Given the description of an element on the screen output the (x, y) to click on. 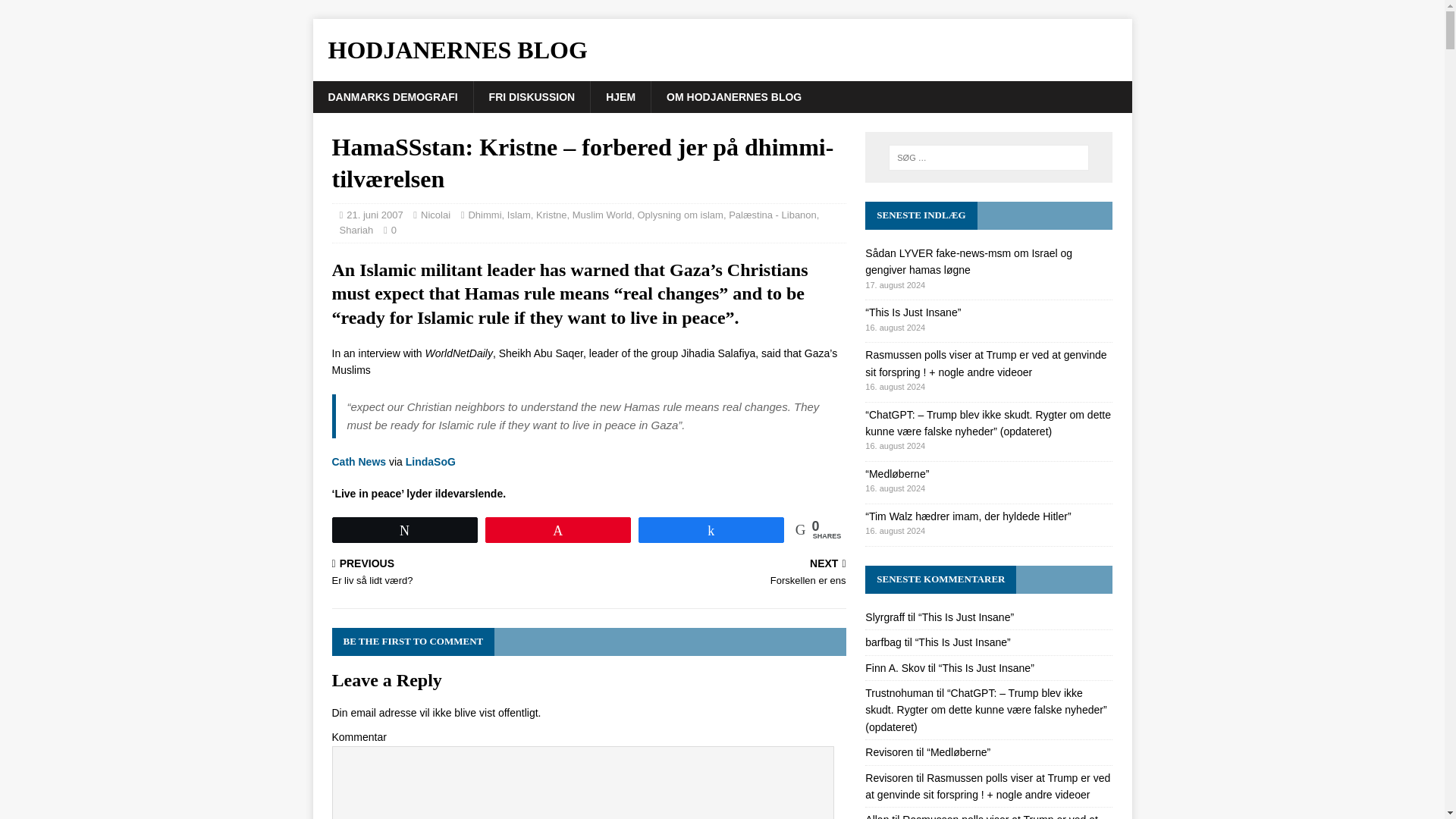
HJEM (619, 97)
OM HODJANERNES BLOG (720, 572)
Kristne (733, 97)
21. juni 2007 (550, 214)
Cath News (374, 214)
DANMARKS DEMOGRAFI (359, 461)
Hodjanernes blog (392, 97)
Islam (721, 49)
Oplysning om islam (518, 214)
